Given the description of an element on the screen output the (x, y) to click on. 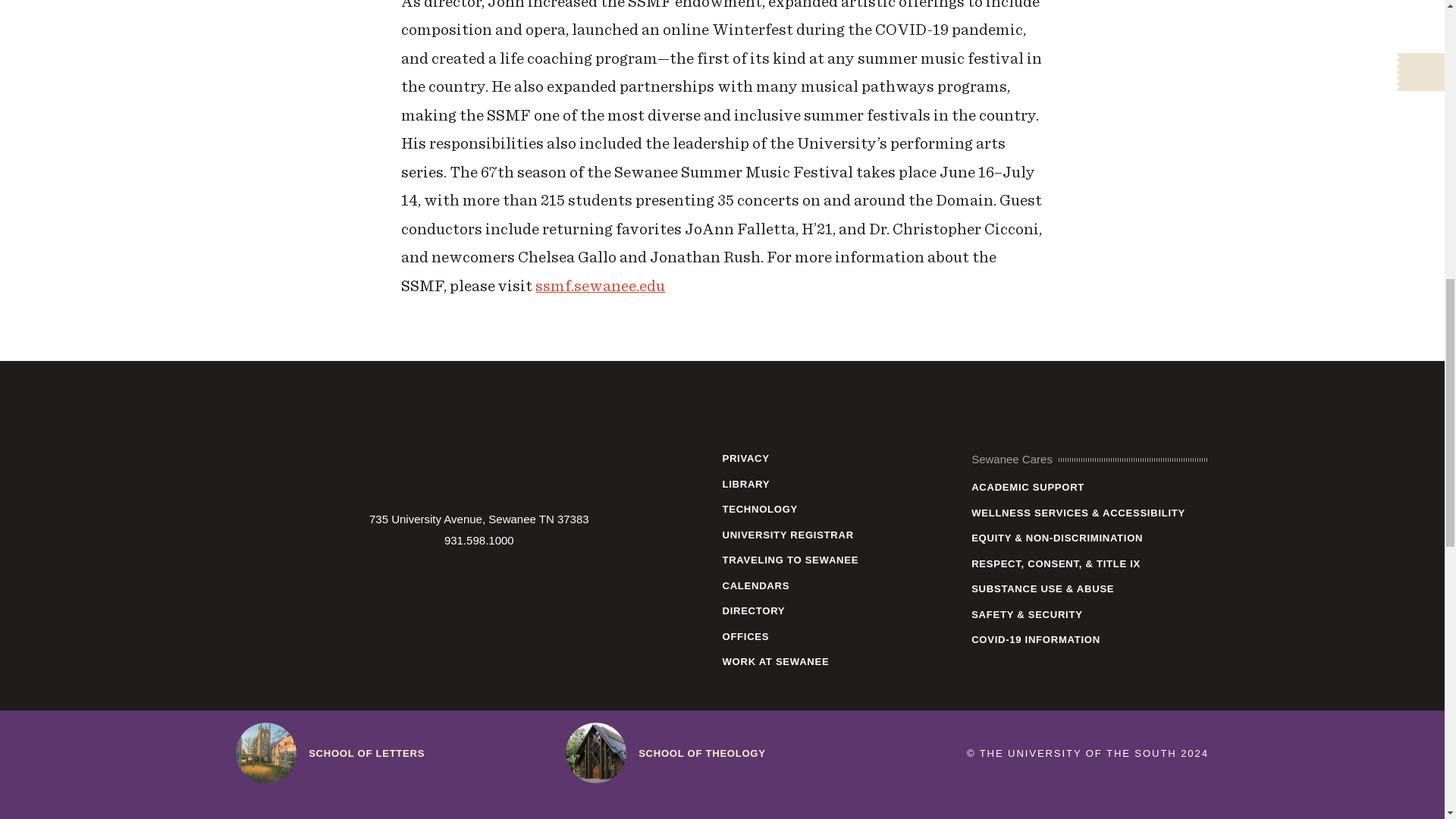
PRIVACY (840, 457)
CALENDARS (840, 585)
Flickr (544, 582)
UNIVERSITY REGISTRAR (840, 534)
Instagram (435, 582)
ACADEMIC SUPPORT (1089, 487)
ssmf.sewanee.edu (600, 285)
COVID-19 INFORMATION (1089, 639)
Facebook (401, 582)
931.598.1000 (478, 540)
